Given the description of an element on the screen output the (x, y) to click on. 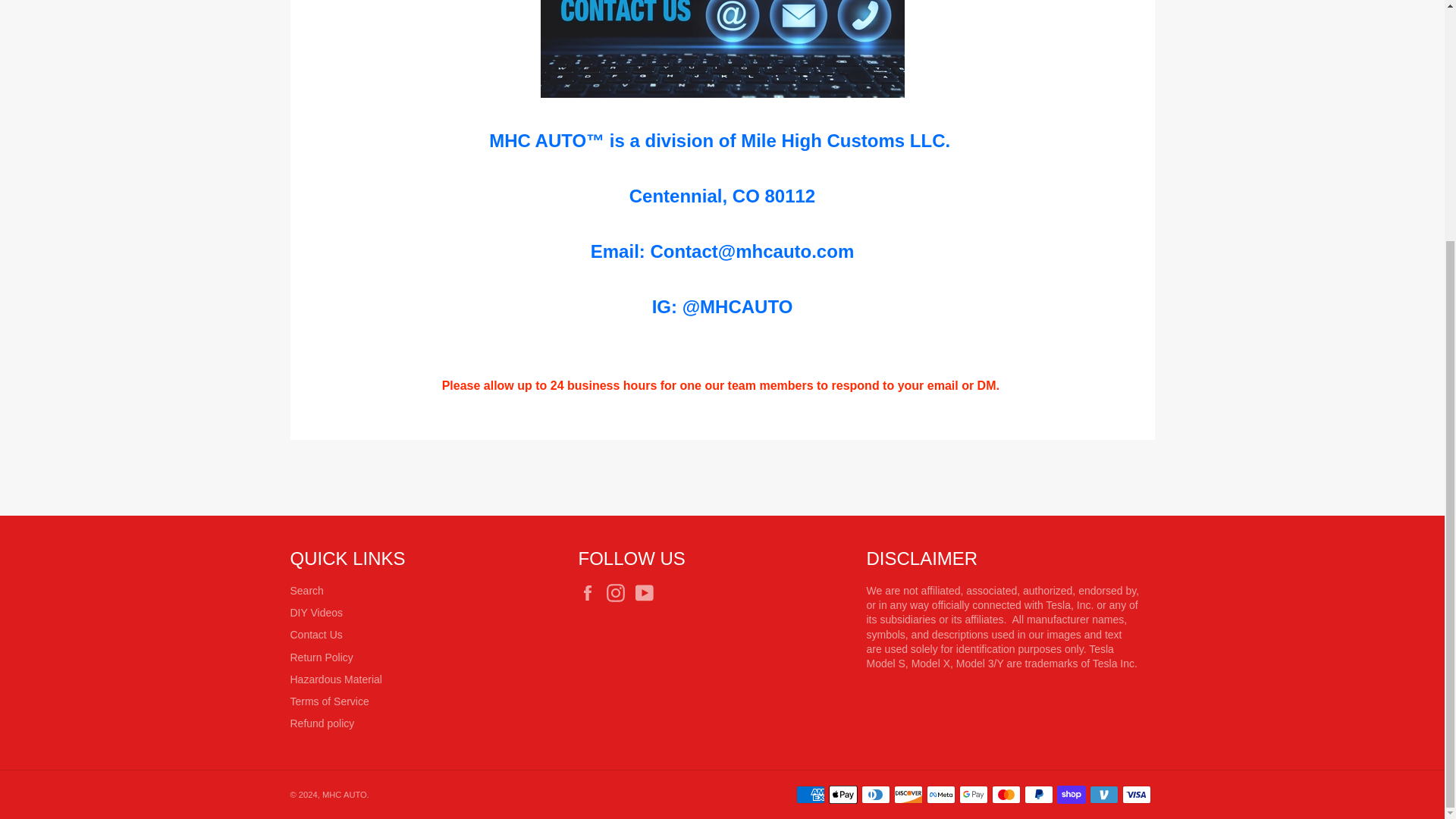
MHC AUTO on Facebook (591, 592)
MHC AUTO on YouTube (647, 592)
MHC AUTO on Instagram (619, 592)
